Given the description of an element on the screen output the (x, y) to click on. 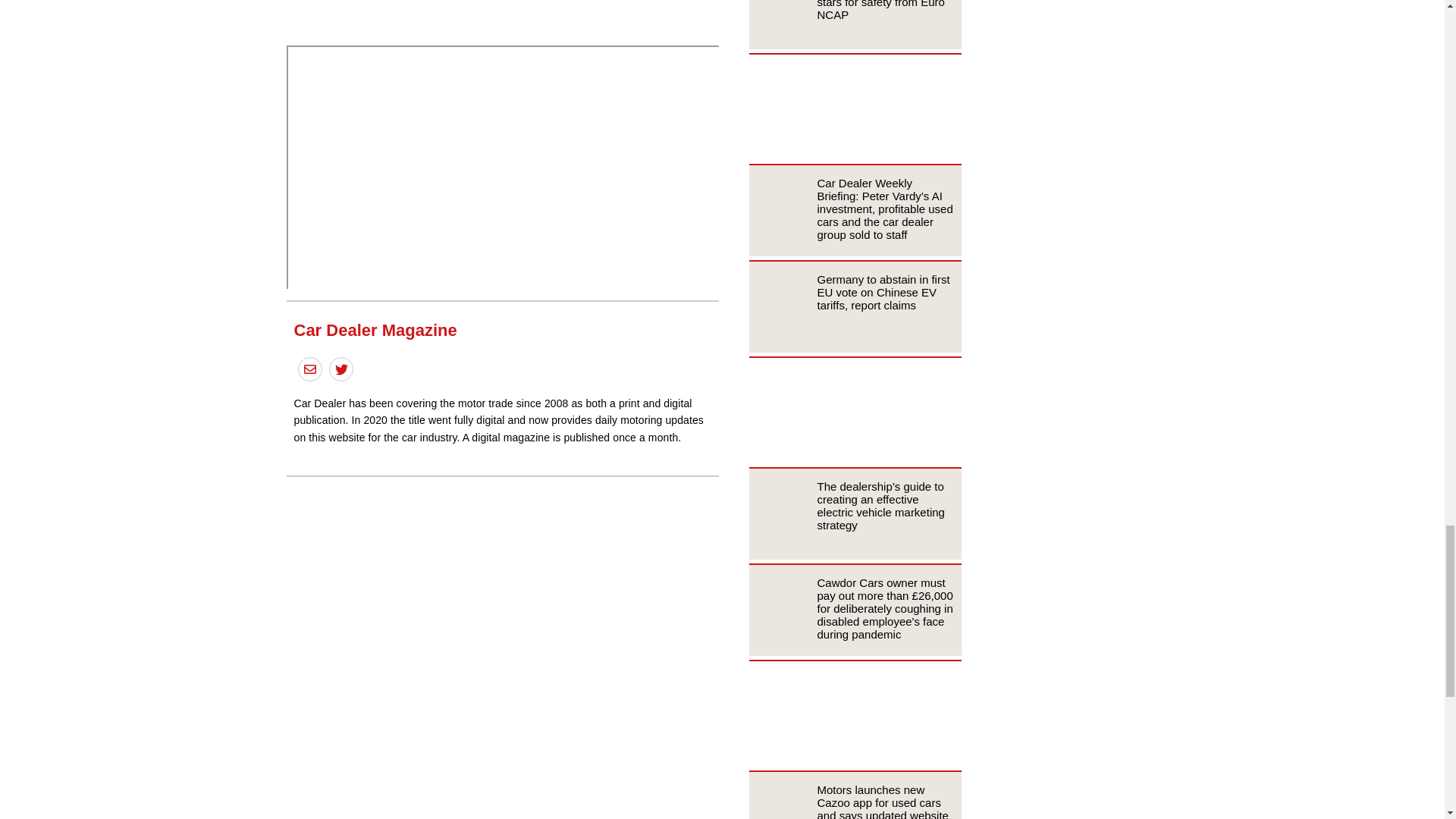
Posts by Car Dealer Magazine (375, 330)
Car Dealer Magazine (375, 330)
